Given the description of an element on the screen output the (x, y) to click on. 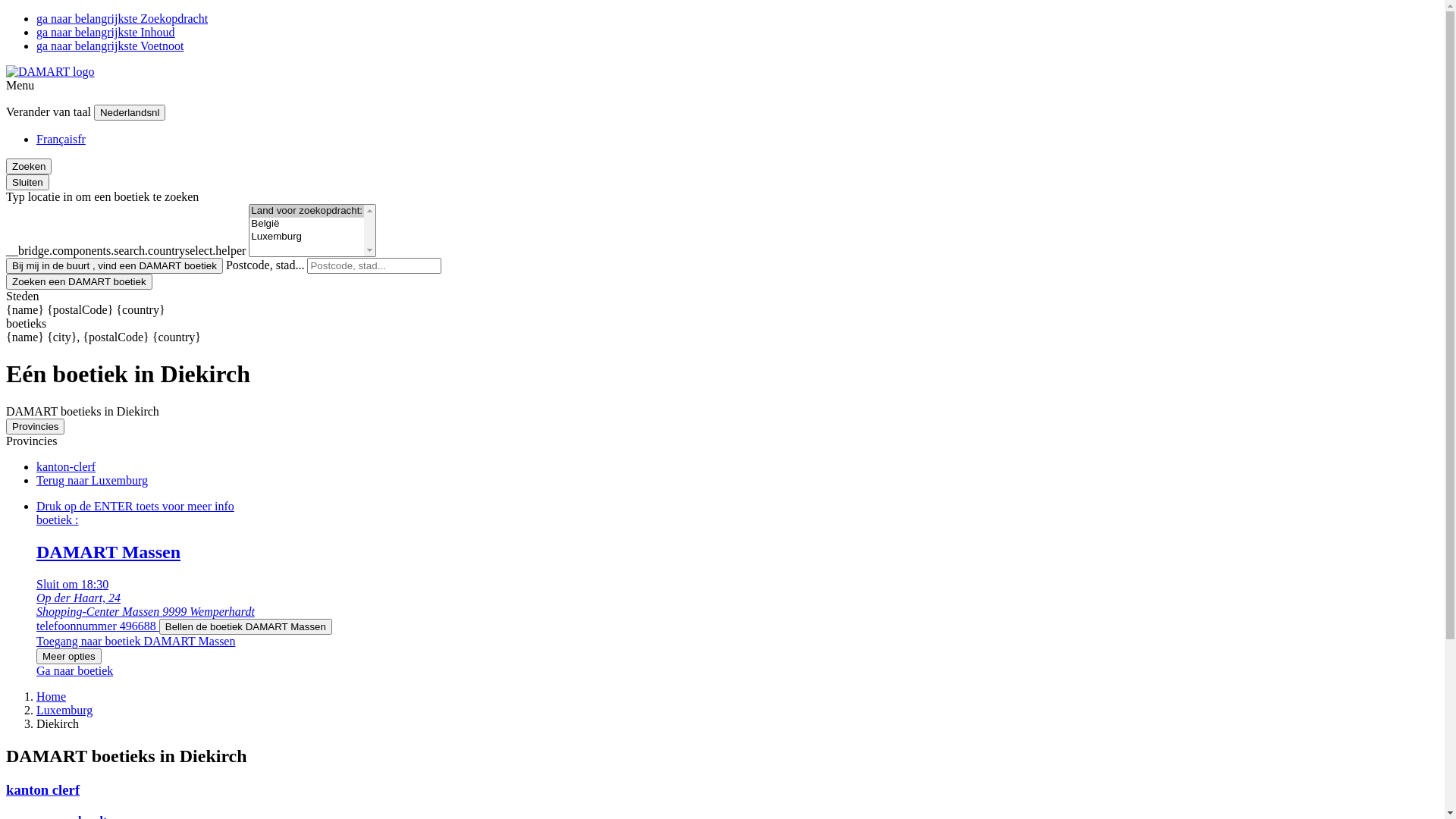
telefoonnummer 496688 Element type: text (97, 625)
Toegang naar boetiek DAMART Massen Element type: text (135, 640)
Terug naar Luxemburg Element type: text (91, 479)
Meer opties Element type: text (68, 656)
Druk op de ENTER toets voor meer info Element type: text (135, 505)
kanton clerf Element type: text (42, 789)
Zoeken een DAMART boetiek Element type: text (79, 281)
ga naar belangrijkste Voetnoot Element type: text (109, 45)
ga naar belangrijkste Inhoud Element type: text (105, 31)
Provincies Element type: text (35, 426)
Bellen de boetiek DAMART Massen Element type: text (245, 626)
Sluiten Element type: text (27, 182)
Zoeken Element type: text (28, 166)
kanton-clerf Element type: text (65, 466)
Home Element type: text (50, 696)
Bij mij in de buurt , vind een DAMART boetiek Element type: text (114, 265)
Luxemburg Element type: text (64, 709)
ga naar belangrijkste Zoekopdracht Element type: text (121, 18)
Nederlandsnl Element type: text (130, 112)
Ga naar boetiek Element type: text (74, 670)
